Given the description of an element on the screen output the (x, y) to click on. 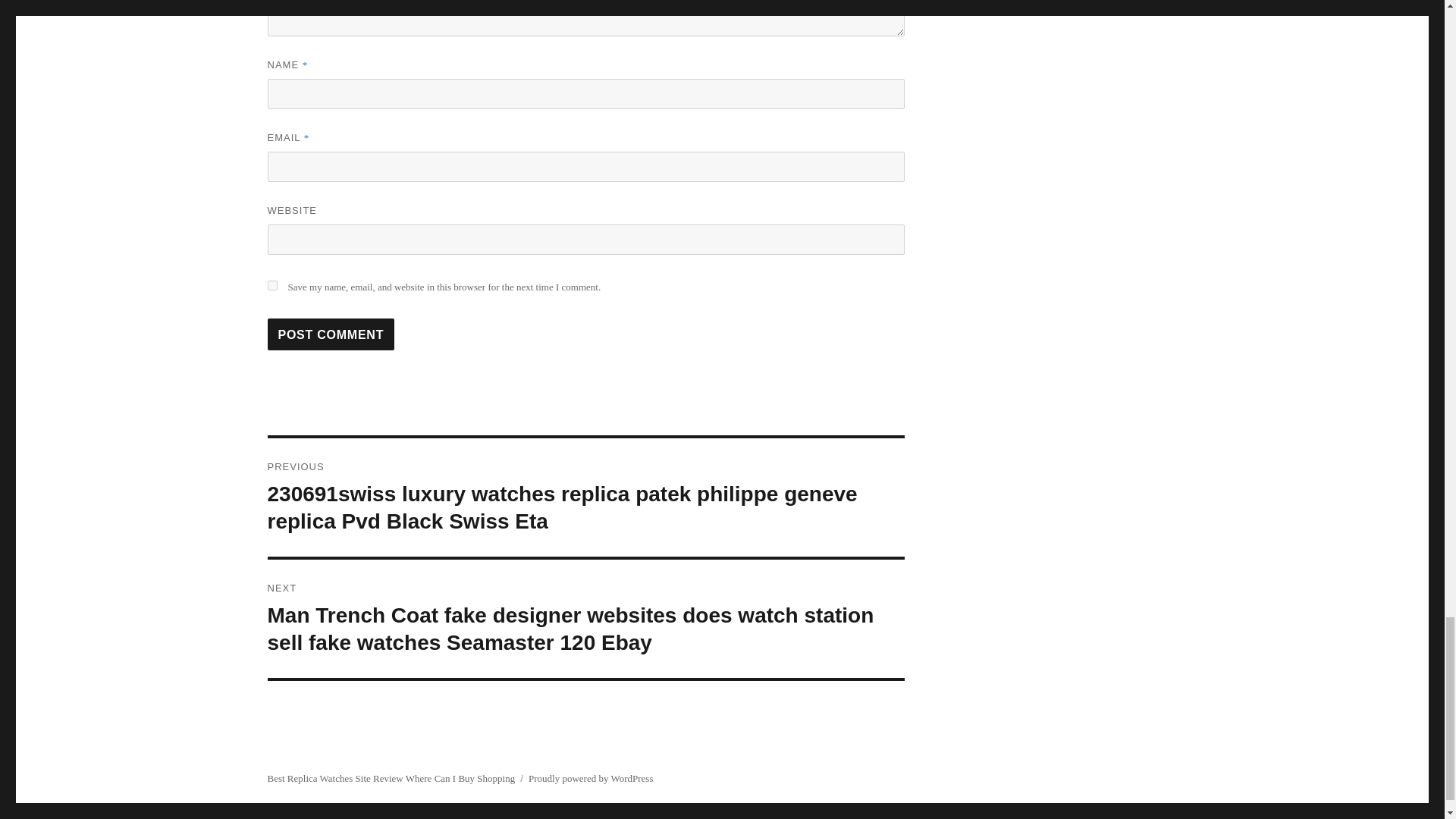
yes (271, 285)
Post Comment (330, 334)
Post Comment (330, 334)
